Given the description of an element on the screen output the (x, y) to click on. 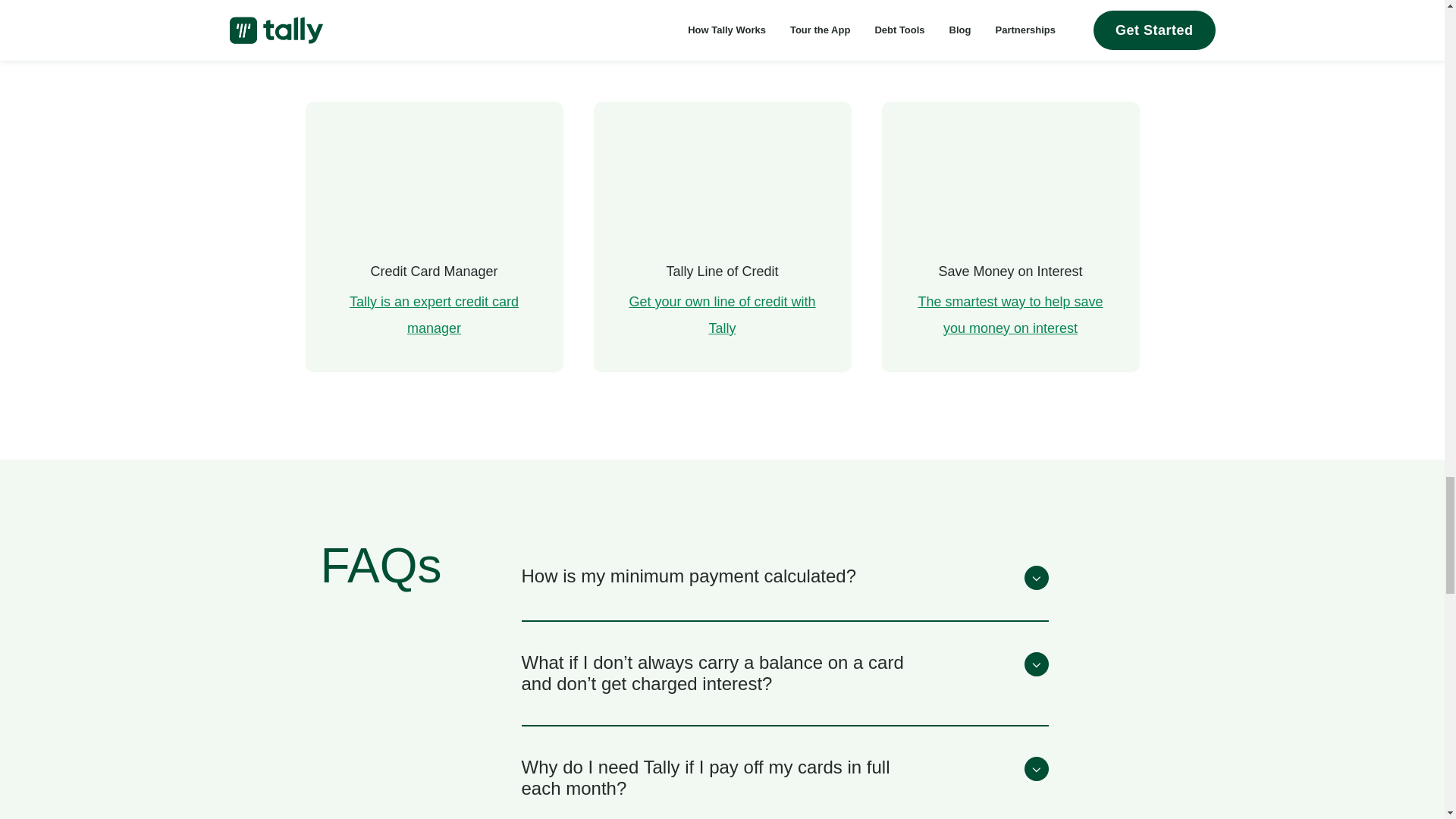
Get your own line of credit with Tally (721, 314)
How is my minimum payment calculated? (784, 577)
Tally is an expert credit card manager (433, 314)
The smartest way to help save you money on interest (1009, 314)
